Given the description of an element on the screen output the (x, y) to click on. 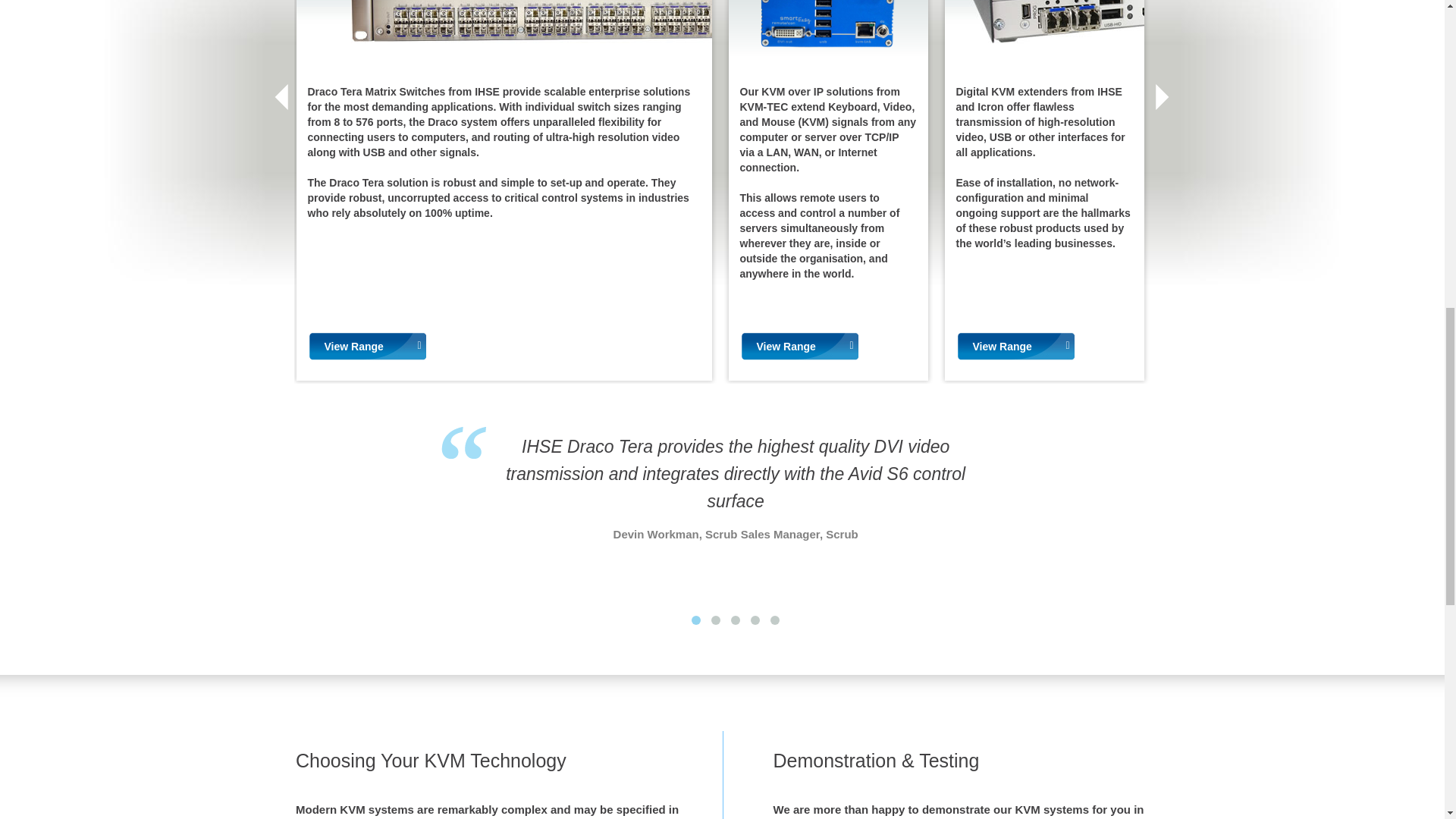
Digital KVM Extenders (1044, 30)
KVM Matrix Switches (503, 30)
KVM over IP Extenders (827, 30)
